Given the description of an element on the screen output the (x, y) to click on. 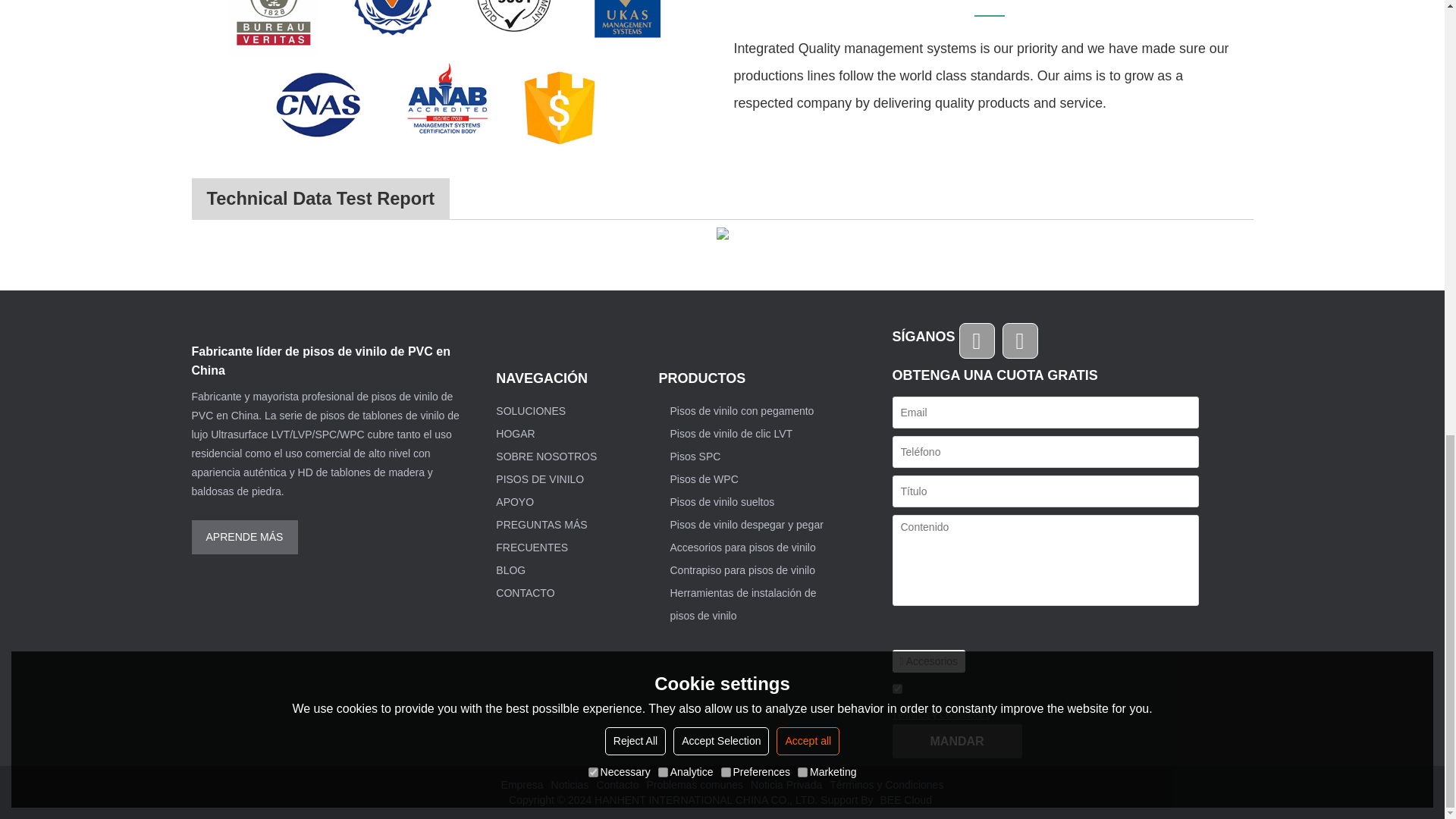
on (896, 688)
